Given the description of an element on the screen output the (x, y) to click on. 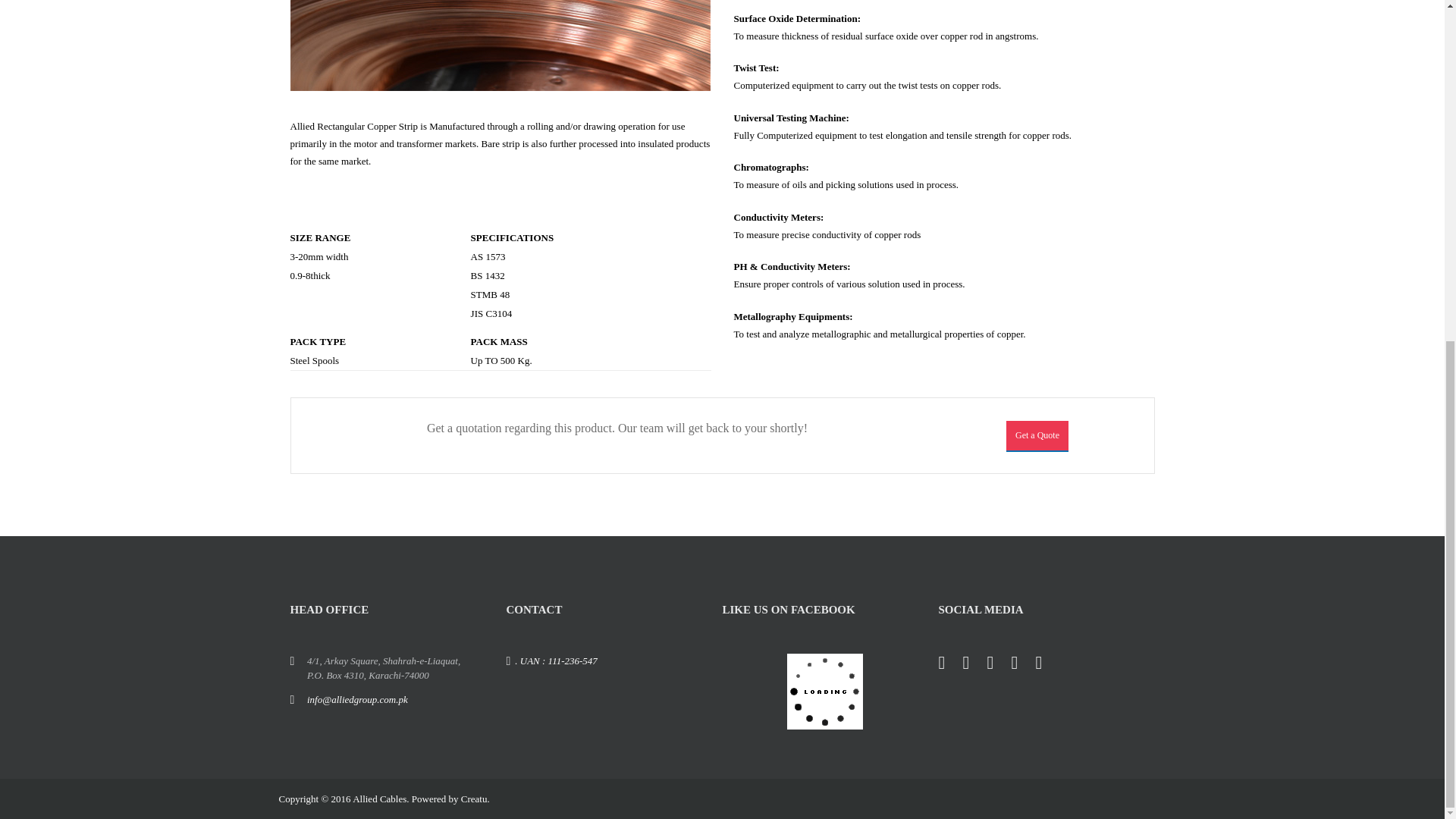
Youtube (1046, 664)
Linkedin (1022, 664)
Twitter (973, 664)
Facebook (949, 664)
Google Plus (998, 664)
